Given the description of an element on the screen output the (x, y) to click on. 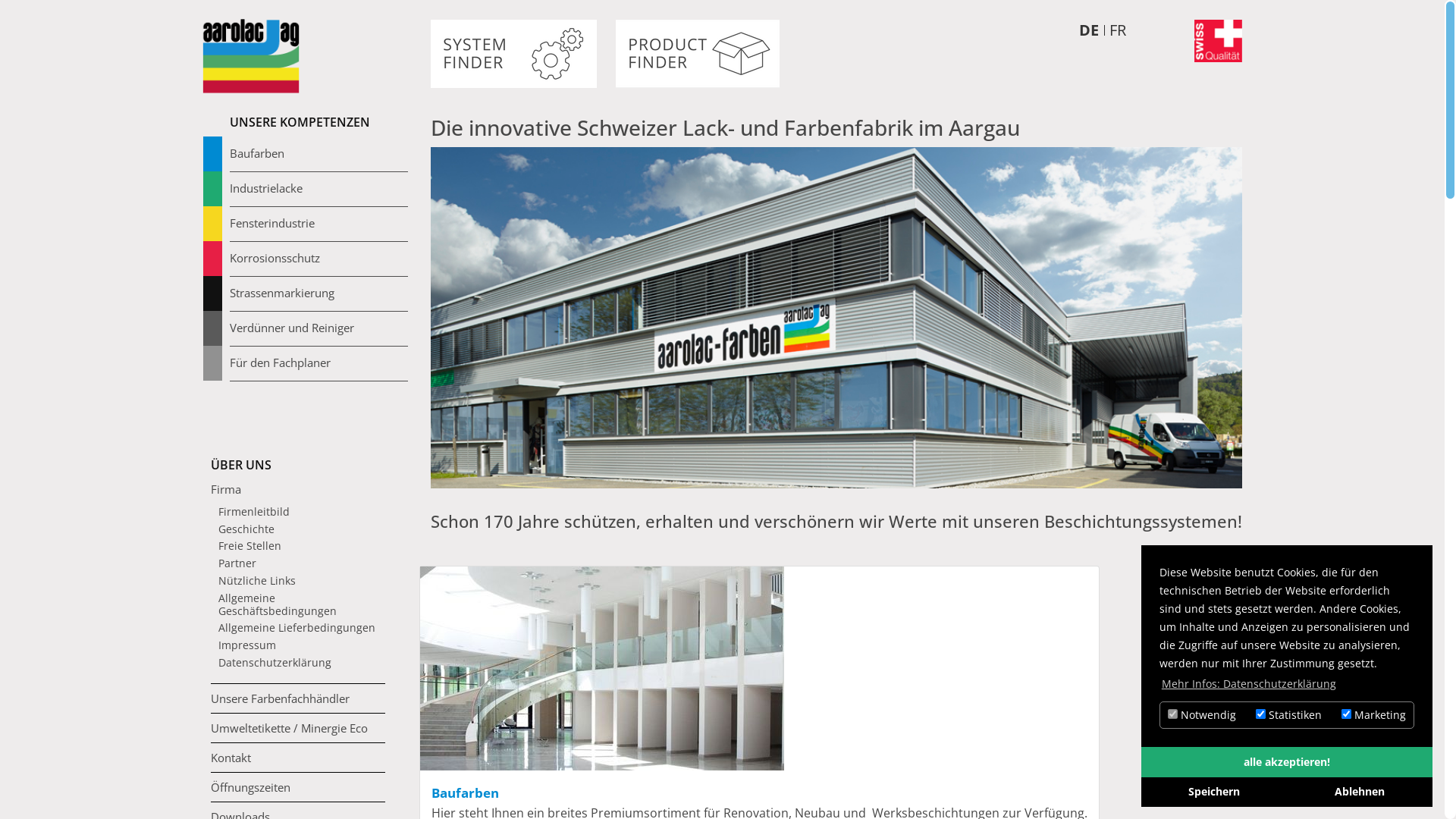
FR Element type: text (1116, 29)
Strassenmarkierung Element type: text (316, 293)
Industrielacke Element type: text (316, 188)
Home Element type: hover (250, 56)
alle akzeptieren! Element type: text (1286, 761)
Freie Stellen Element type: text (301, 546)
Impressum Element type: text (301, 645)
Firmenleitbild Element type: text (301, 511)
DE Element type: text (1088, 29)
Speichern Element type: text (1213, 791)
Partner Element type: text (301, 563)
Kontakt Element type: text (297, 757)
Allgemeine Lieferbedingungen Element type: text (301, 628)
Geschichte Element type: text (301, 529)
Baufarben Element type: text (316, 153)
Umweltetikette / Minergie Eco Element type: text (297, 727)
Korrosionsschutz Element type: text (316, 258)
Firma Element type: text (297, 488)
Ablehnen Element type: text (1359, 791)
Fensterindustrie Element type: text (316, 223)
